Given the description of an element on the screen output the (x, y) to click on. 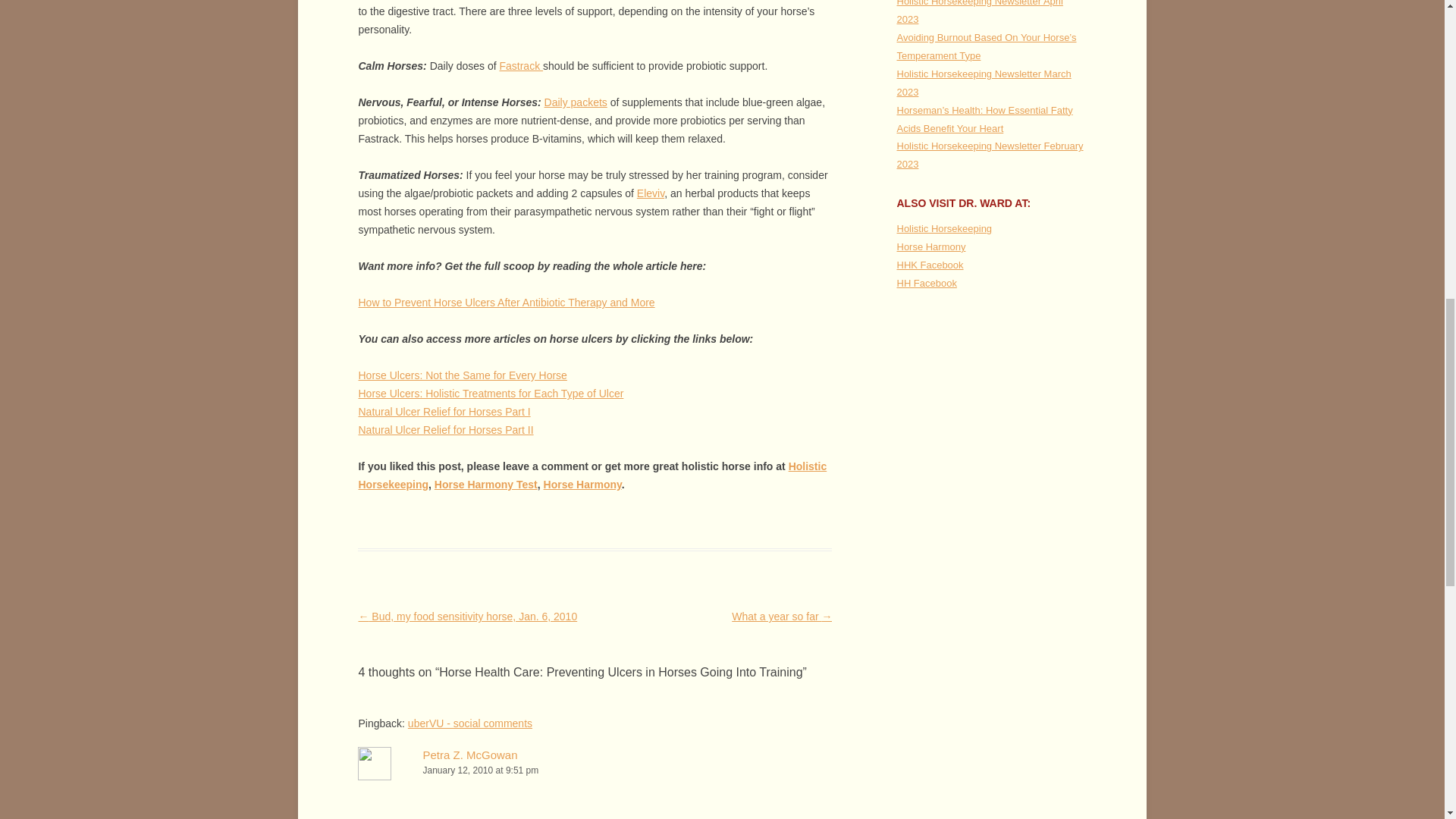
Horse Harmony (582, 484)
Fastrack (521, 65)
Natural Ulcer Relief for Horses Part I (443, 411)
Holistic Horsekeeping (592, 475)
Horse Harmony Test (485, 484)
Horse Ulcers: Holistic Treatments for Each Type of Ulcer (490, 393)
Daily packets (575, 102)
Eleviv (650, 193)
Horse Ulcers: Not the Same for Every Horse (462, 375)
Natural Ulcer Relief for Horses Part II (445, 429)
